Given the description of an element on the screen output the (x, y) to click on. 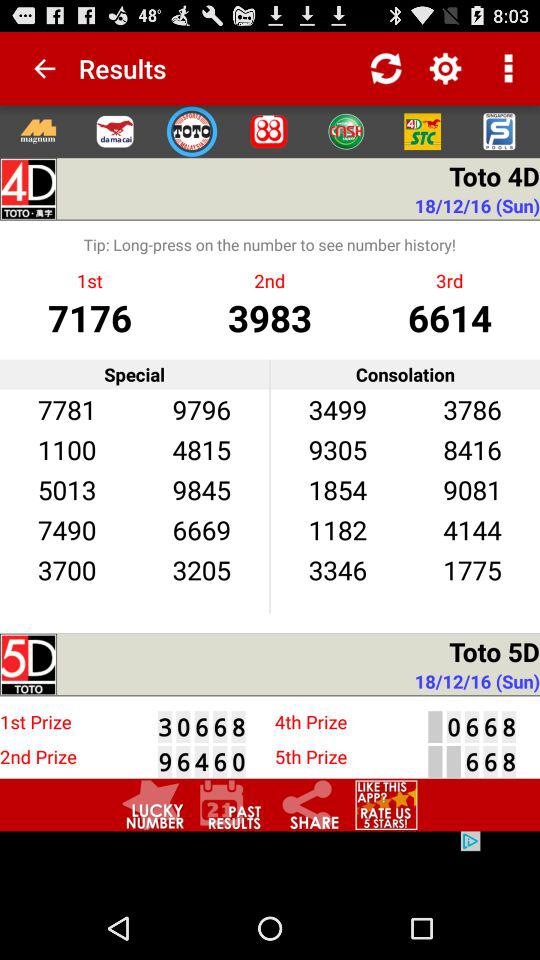
press icon below the 8416 (472, 489)
